Given the description of an element on the screen output the (x, y) to click on. 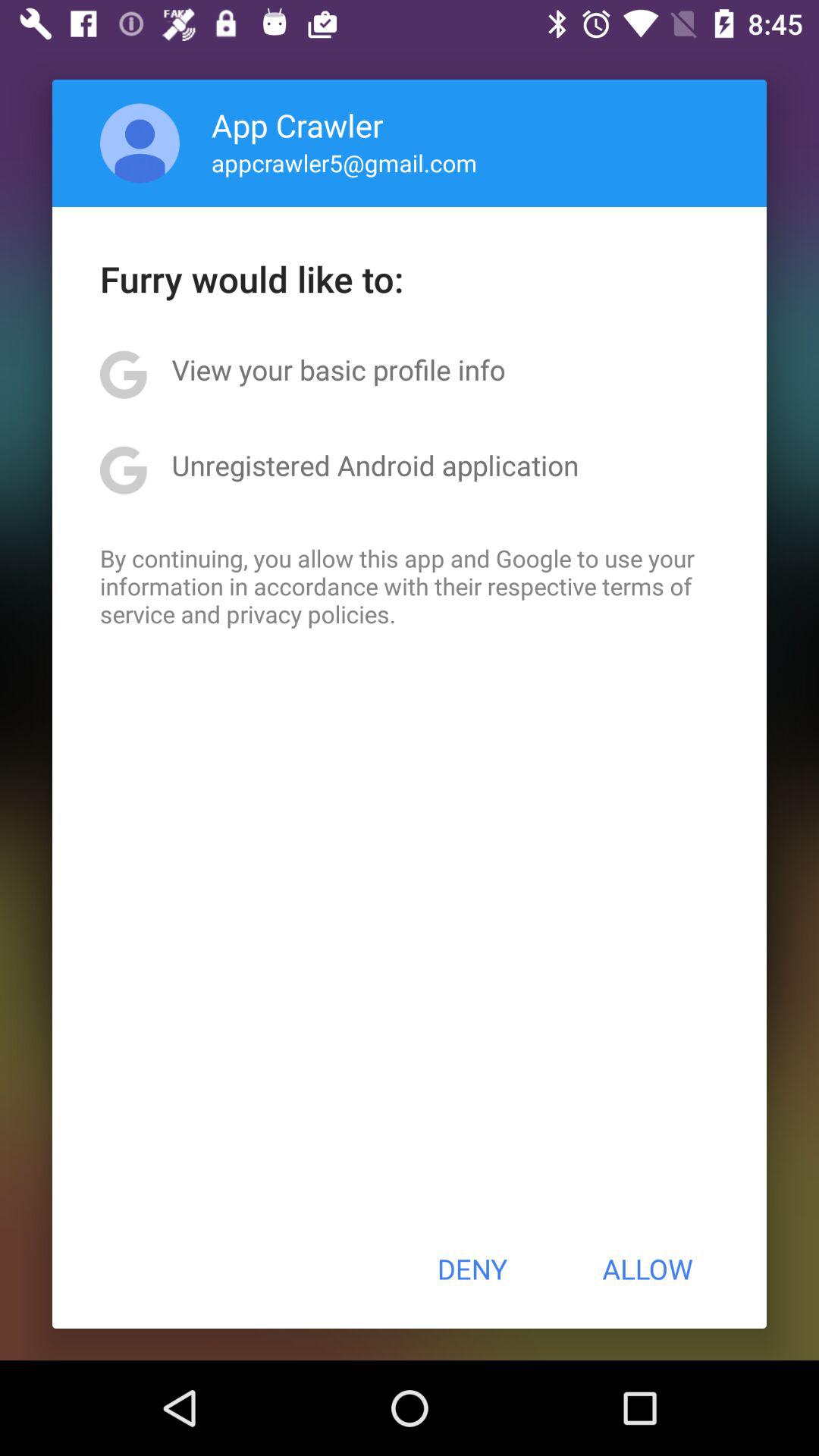
click the item to the left of the allow button (471, 1268)
